Given the description of an element on the screen output the (x, y) to click on. 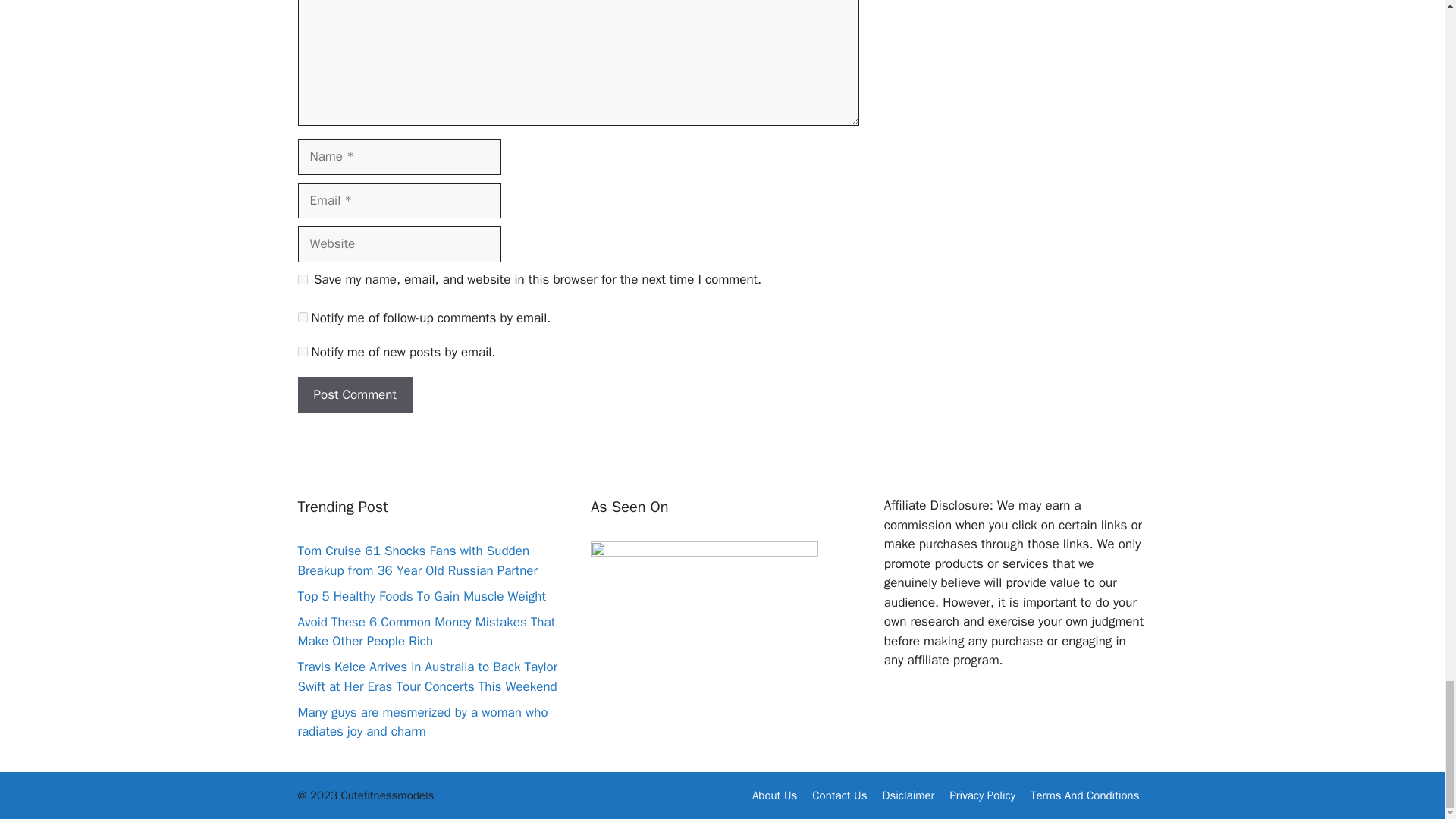
Post Comment (354, 394)
subscribe (302, 351)
subscribe (302, 317)
yes (302, 279)
